Given the description of an element on the screen output the (x, y) to click on. 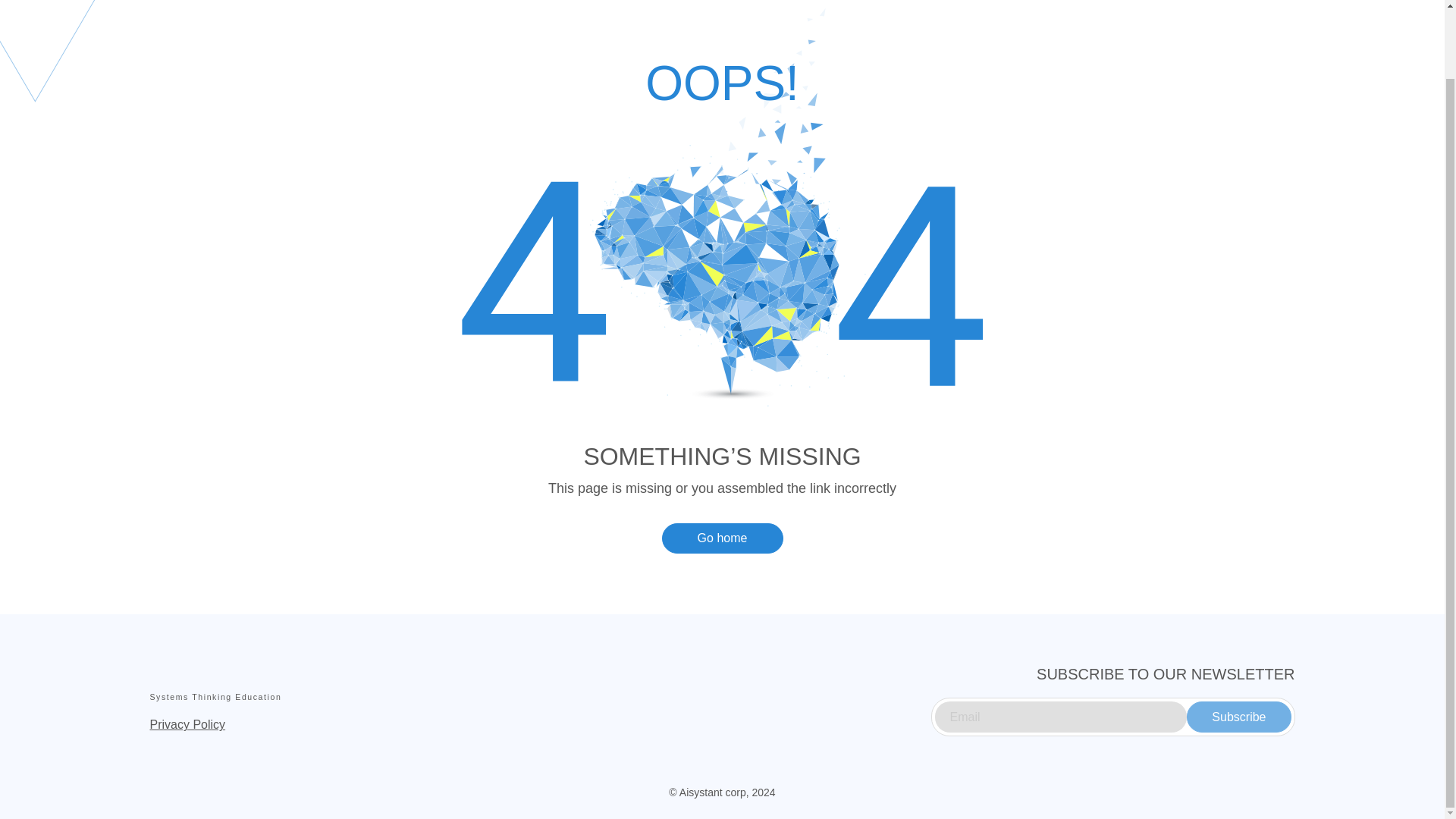
Go home (722, 538)
Subscribe (1238, 716)
Privacy Policy (187, 724)
Systems Thinking Education (231, 682)
